Given the description of an element on the screen output the (x, y) to click on. 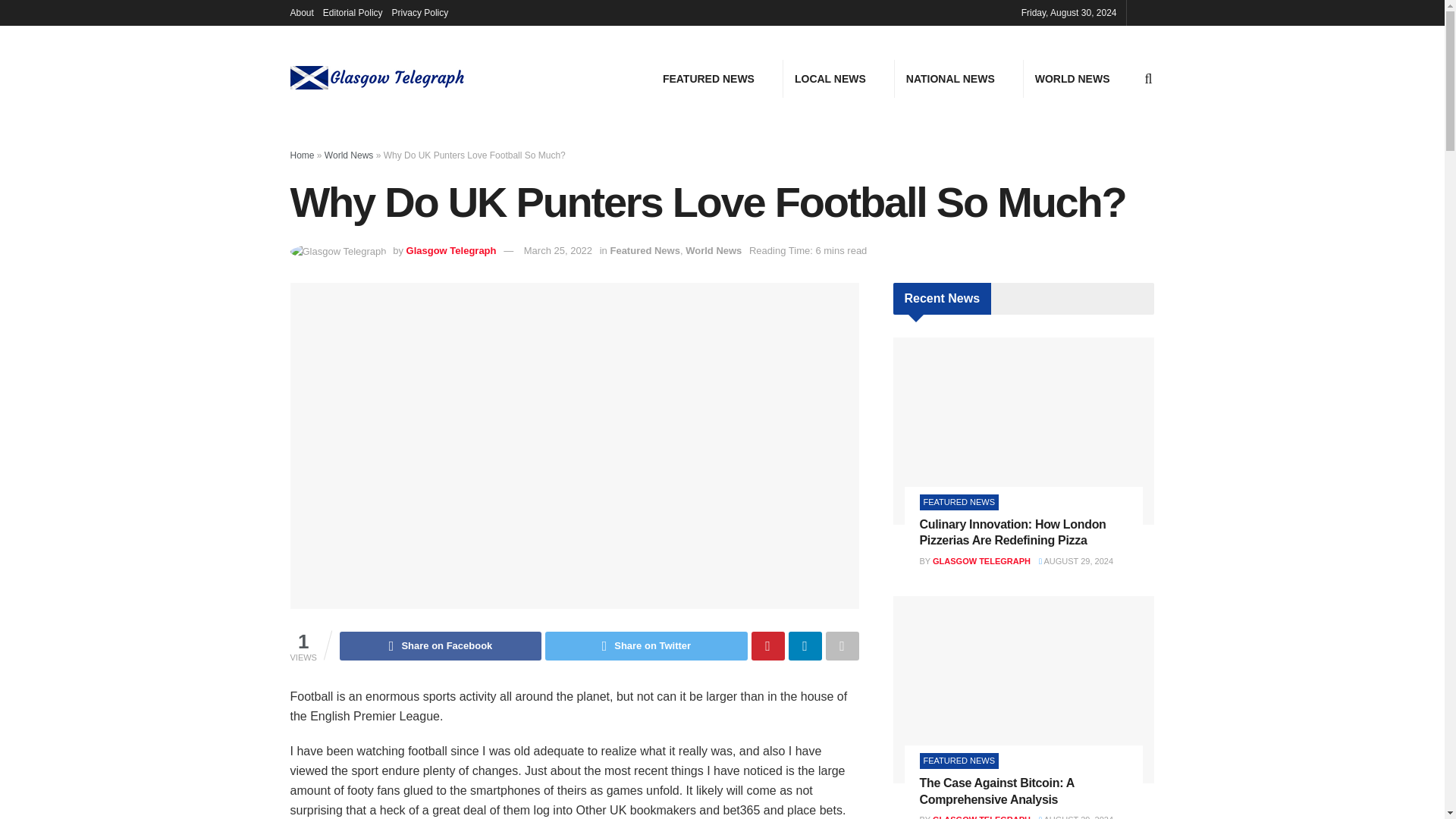
March 25, 2022 (558, 250)
Home (301, 154)
Privacy Policy (419, 12)
About (301, 12)
Glasgow Telegraph (451, 250)
FEATURED NEWS (708, 78)
Editorial Policy (352, 12)
NATIONAL NEWS (950, 78)
Share on Twitter (645, 645)
WORLD NEWS (1072, 78)
